Given the description of an element on the screen output the (x, y) to click on. 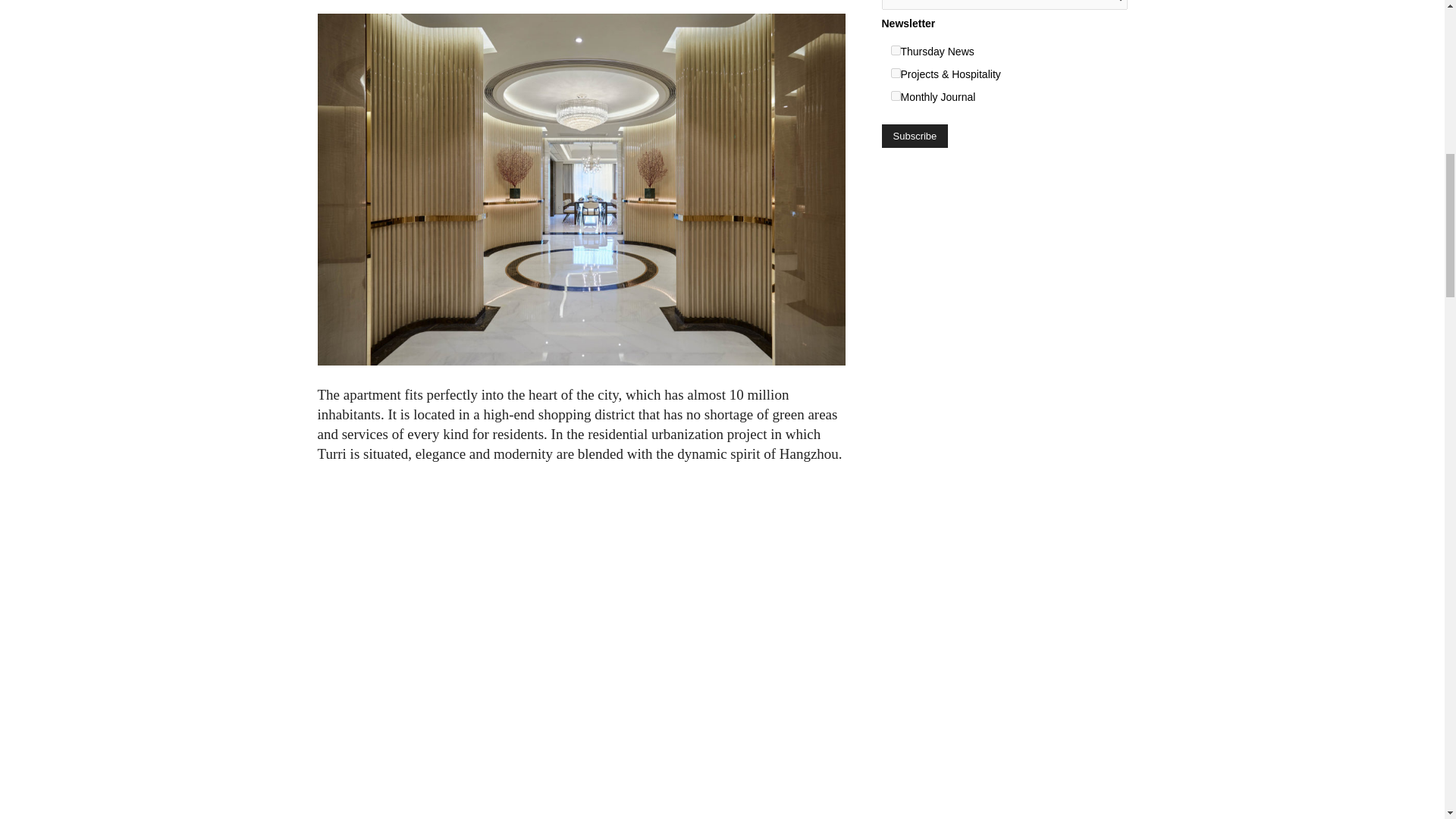
1 (894, 50)
2 (894, 72)
4 (894, 95)
Subscribe (913, 136)
